Given the description of an element on the screen output the (x, y) to click on. 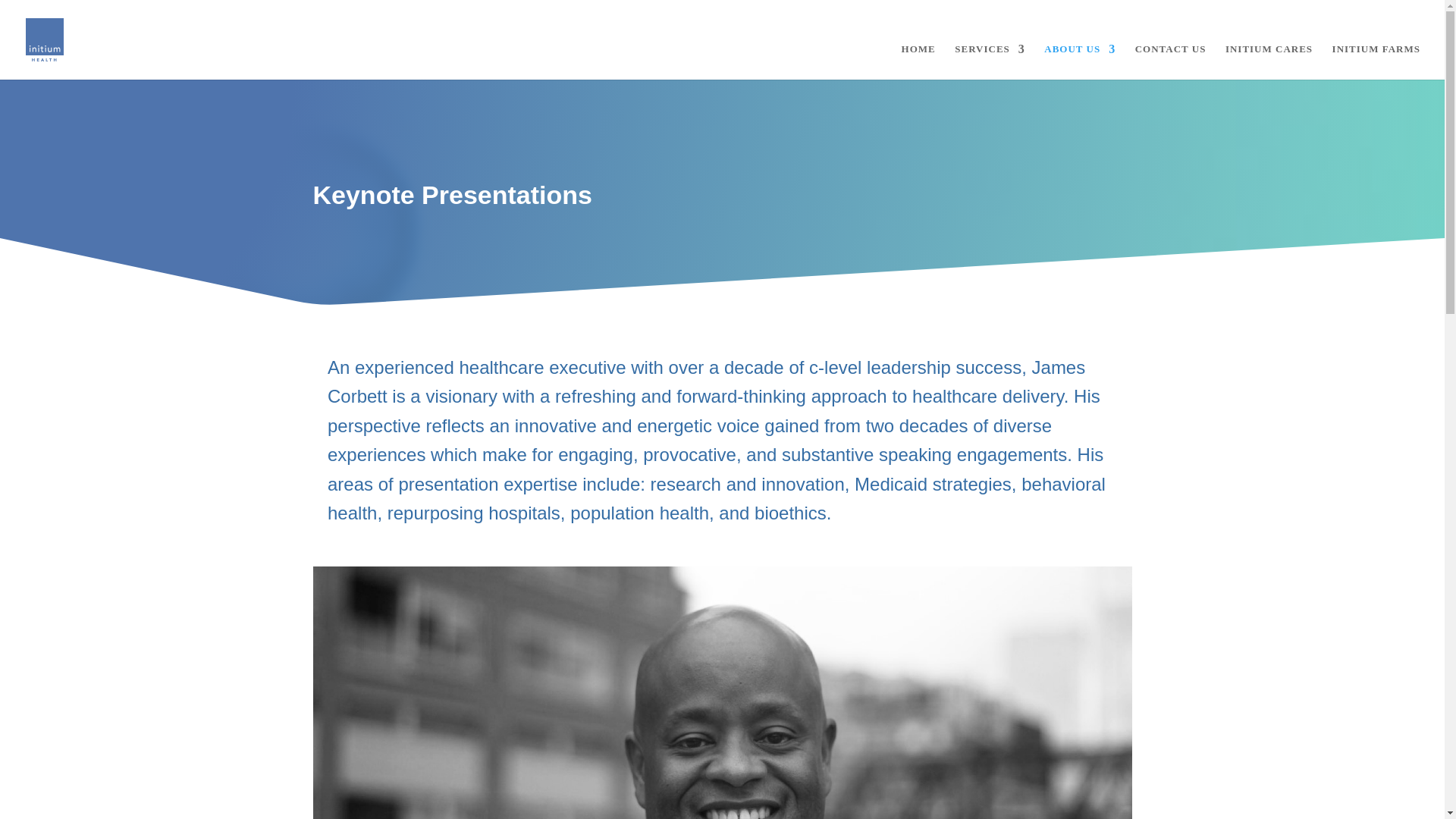
HOME (918, 61)
CONTACT US (1171, 61)
INITIUM CARES (1269, 61)
ABOUT US (1079, 61)
INITIUM FARMS (1376, 61)
SERVICES (990, 61)
